Given the description of an element on the screen output the (x, y) to click on. 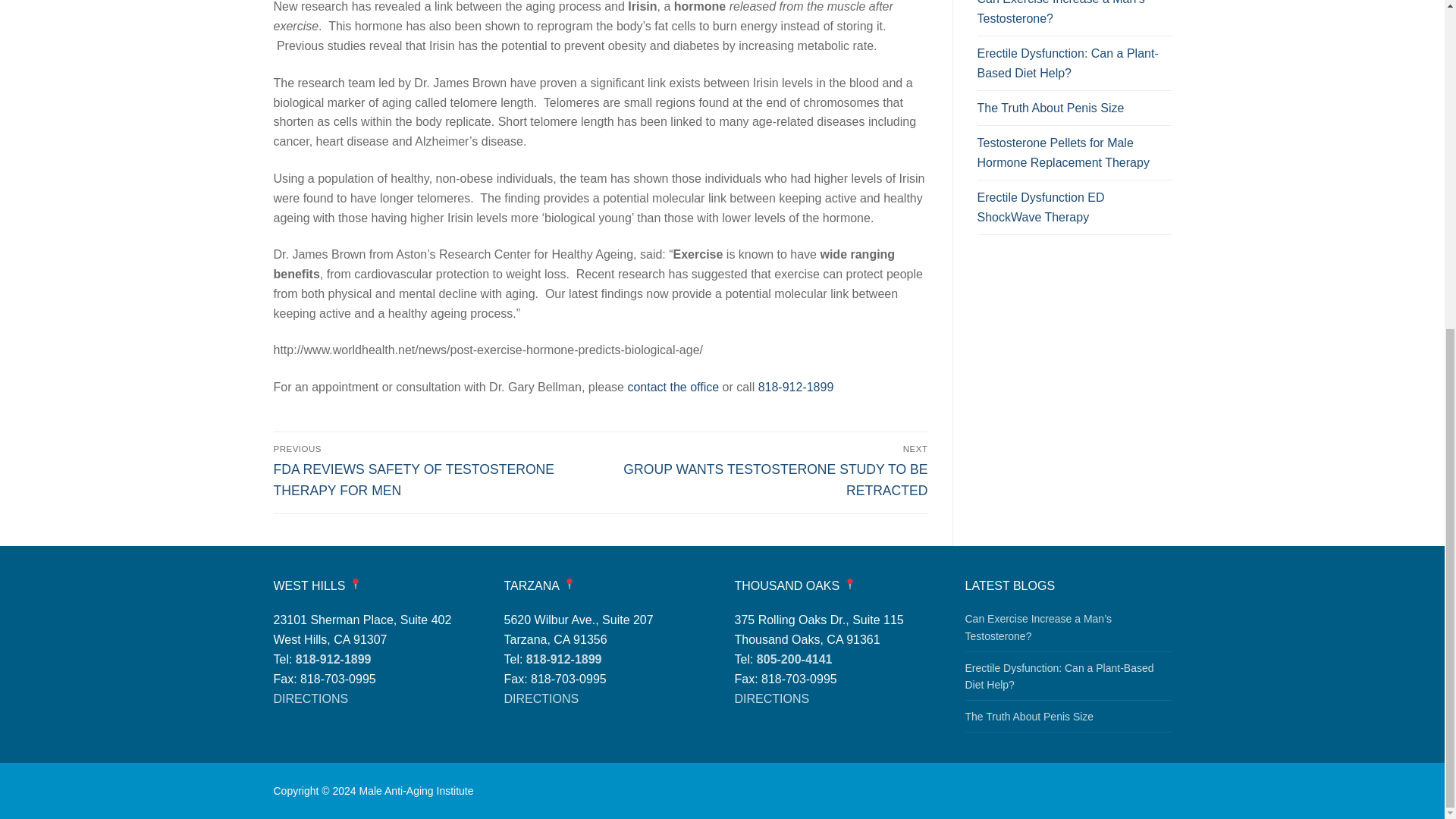
The Truth About Penis Size (1073, 112)
Erectile Dysfunction ED ShockWave Therapy (1073, 211)
DIRECTIONS (540, 698)
818-912-1899 (333, 658)
818-912-1899 (563, 658)
Erectile Dysfunction: Can a Plant-Based Diet Help? (1073, 67)
Testosterone Pellets for Male Hormone Replacement Therapy (1073, 156)
805-200-4141 (794, 658)
